Given the description of an element on the screen output the (x, y) to click on. 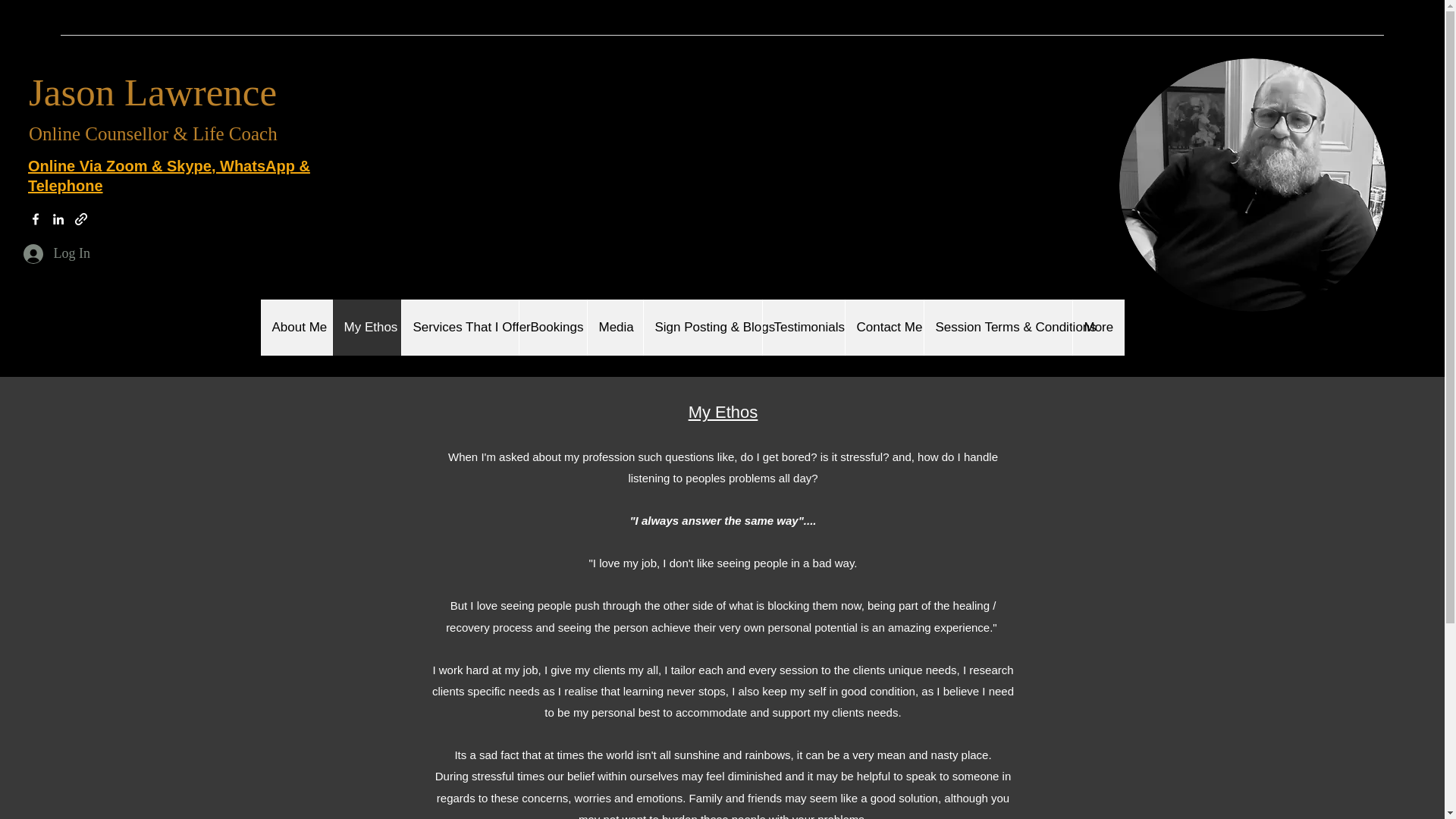
Jason Lawrence (152, 91)
Bookings (552, 327)
Testimonials (802, 327)
Media (614, 327)
Services That I Offer (459, 327)
About Me (295, 327)
My Ethos (366, 327)
Contact Me (883, 327)
Log In (55, 254)
